Given the description of an element on the screen output the (x, y) to click on. 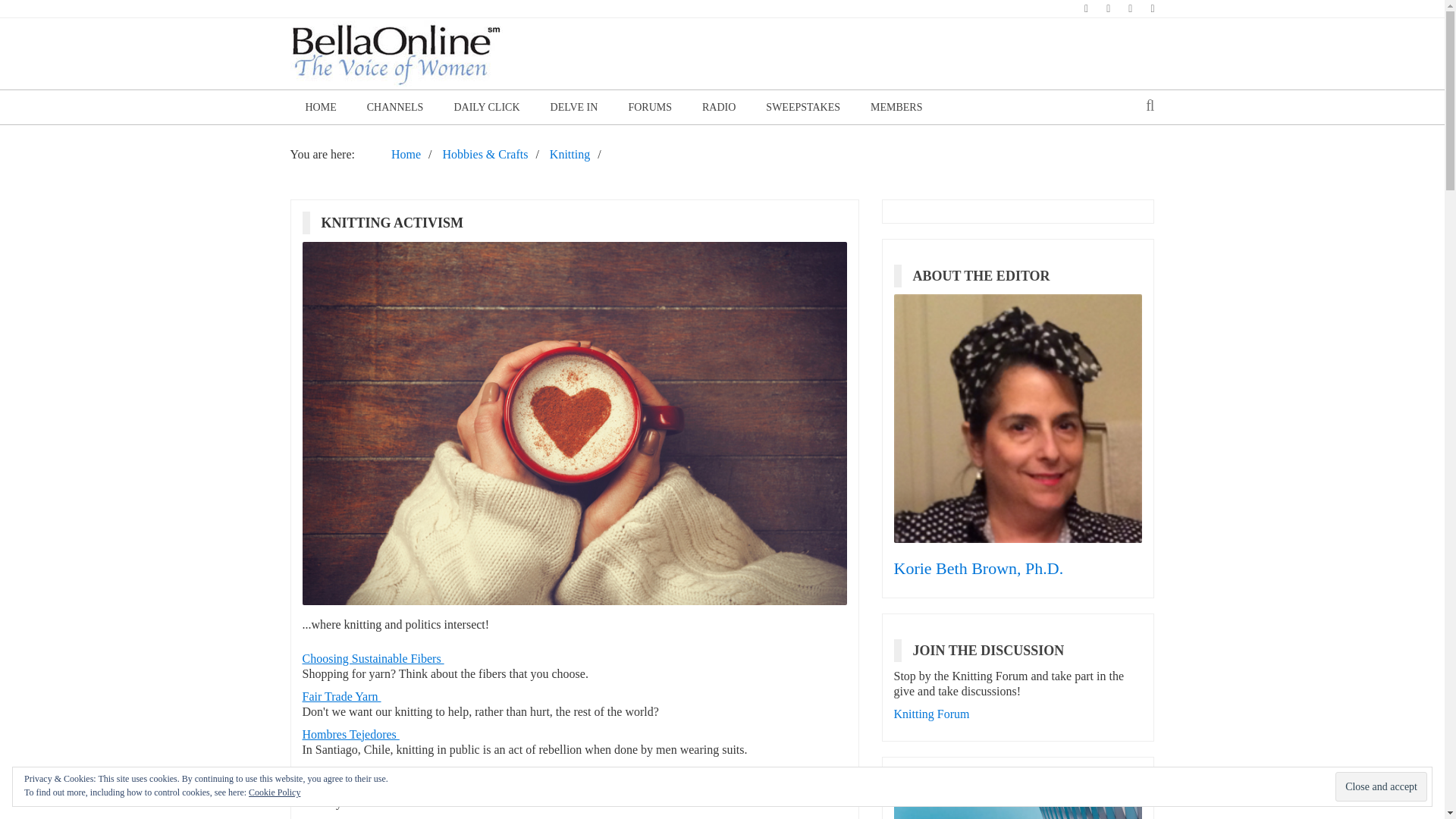
RADIO (719, 107)
CHANNELS (395, 107)
DAILY CLICK (486, 107)
DELVE IN (573, 107)
FORUMS (649, 107)
SWEEPSTAKES (803, 107)
Close and accept (1380, 786)
HOME (319, 107)
